Given the description of an element on the screen output the (x, y) to click on. 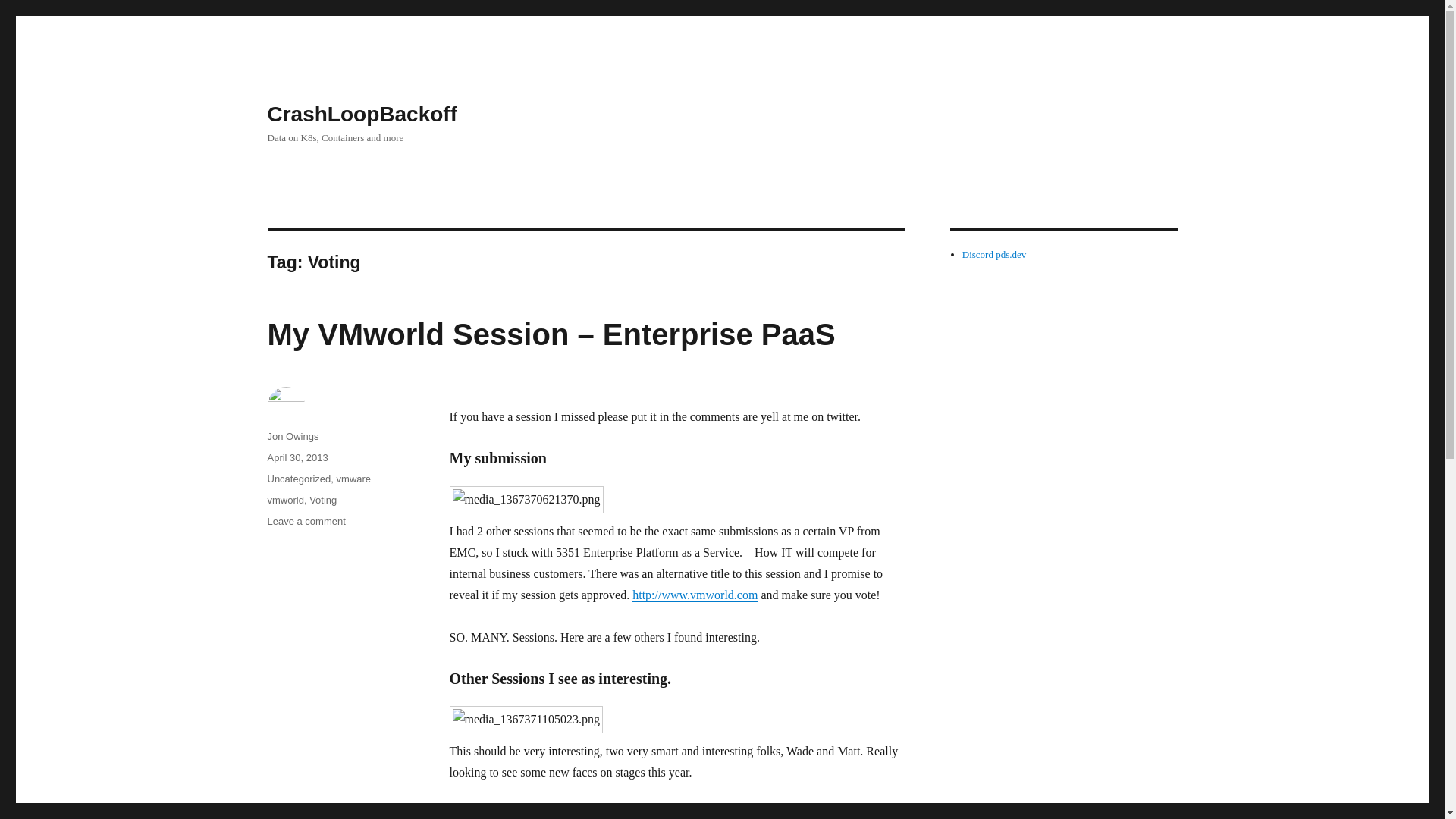
Discord pds.dev (994, 254)
Voting (322, 500)
Jon Owings (292, 436)
CrashLoopBackoff (361, 114)
vmworld (284, 500)
April 30, 2013 (296, 457)
Uncategorized (298, 478)
vmware (353, 478)
